Given the description of an element on the screen output the (x, y) to click on. 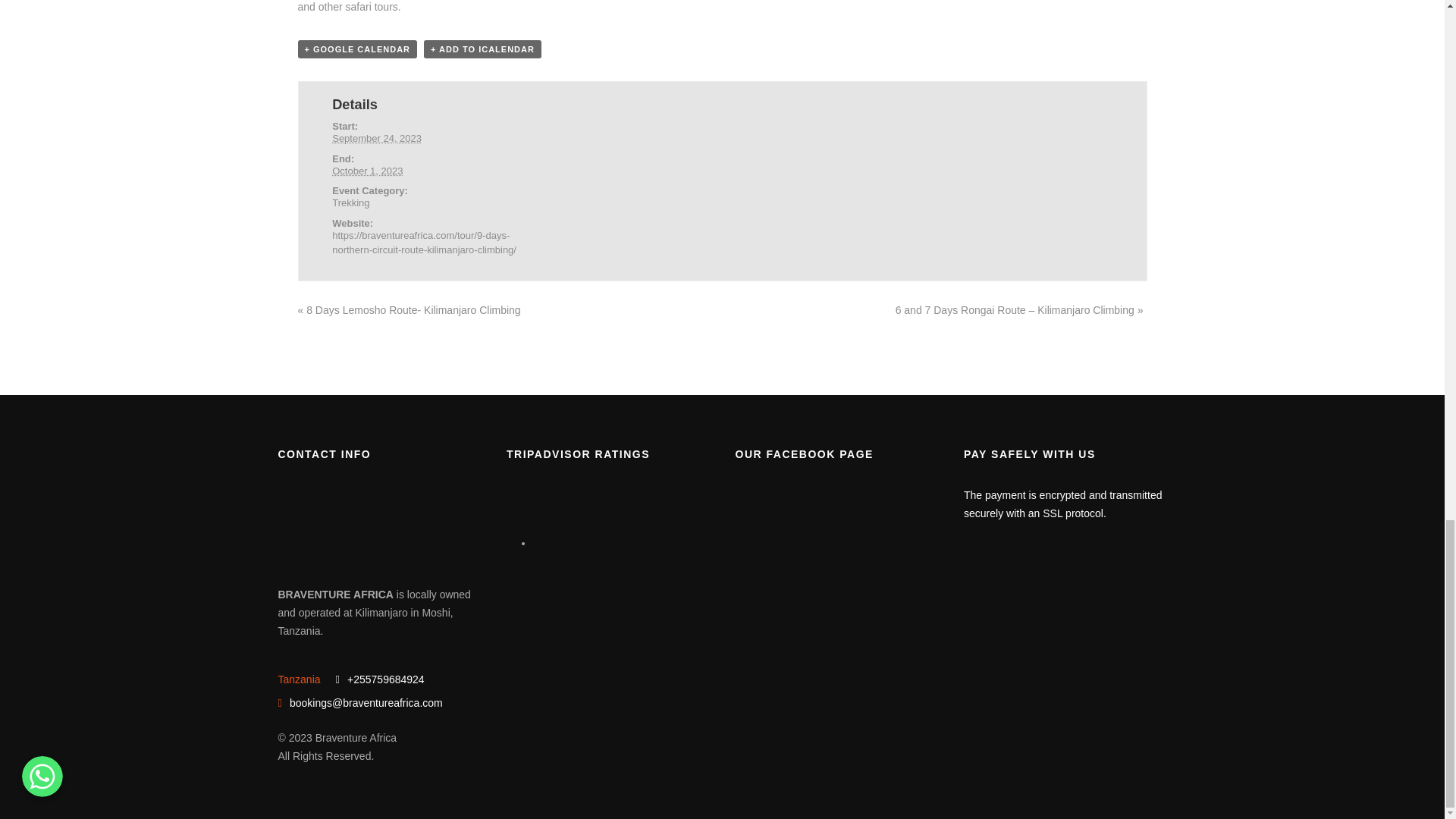
2023-09-24 (376, 138)
Download .ics file (482, 49)
2023-10-01 (367, 170)
Add to Google Calendar (356, 49)
